Given the description of an element on the screen output the (x, y) to click on. 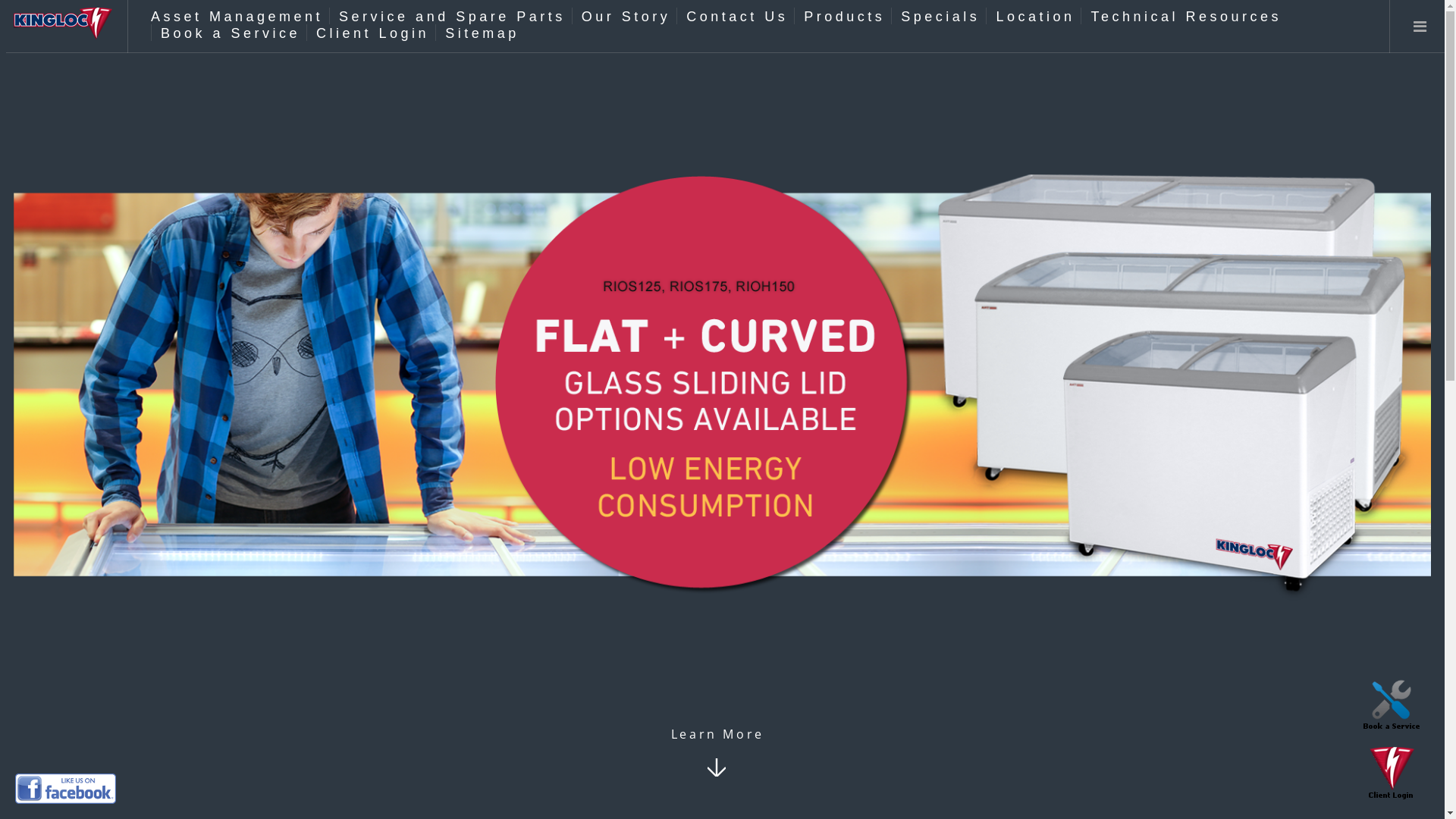
Book a Service Element type: hover (1391, 705)
Contact Us Element type: text (736, 16)
Menu Element type: text (1420, 26)
Service and Spare Parts Element type: text (451, 16)
Client Login Element type: text (372, 32)
Like us on Facebook Element type: hover (65, 788)
Book a Service Element type: text (230, 32)
Sitemap Element type: text (482, 32)
Location Element type: text (1034, 16)
Technical Resources Element type: text (1185, 16)
Specials Element type: text (939, 16)
Asset Management Element type: text (236, 16)
Products Element type: text (843, 16)
Client Login Element type: hover (1391, 773)
Our Story Element type: text (626, 16)
